Given the description of an element on the screen output the (x, y) to click on. 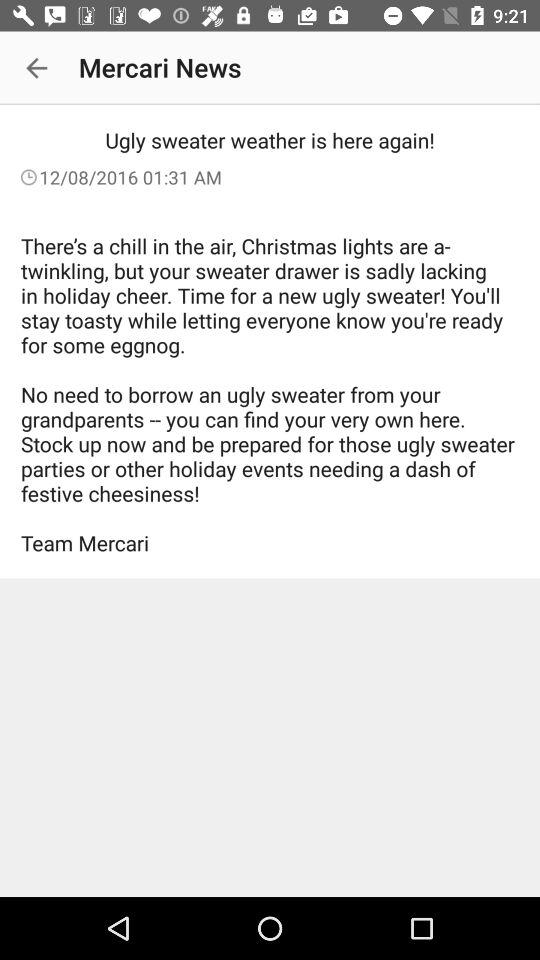
turn on icon next to the mercari news app (36, 67)
